Given the description of an element on the screen output the (x, y) to click on. 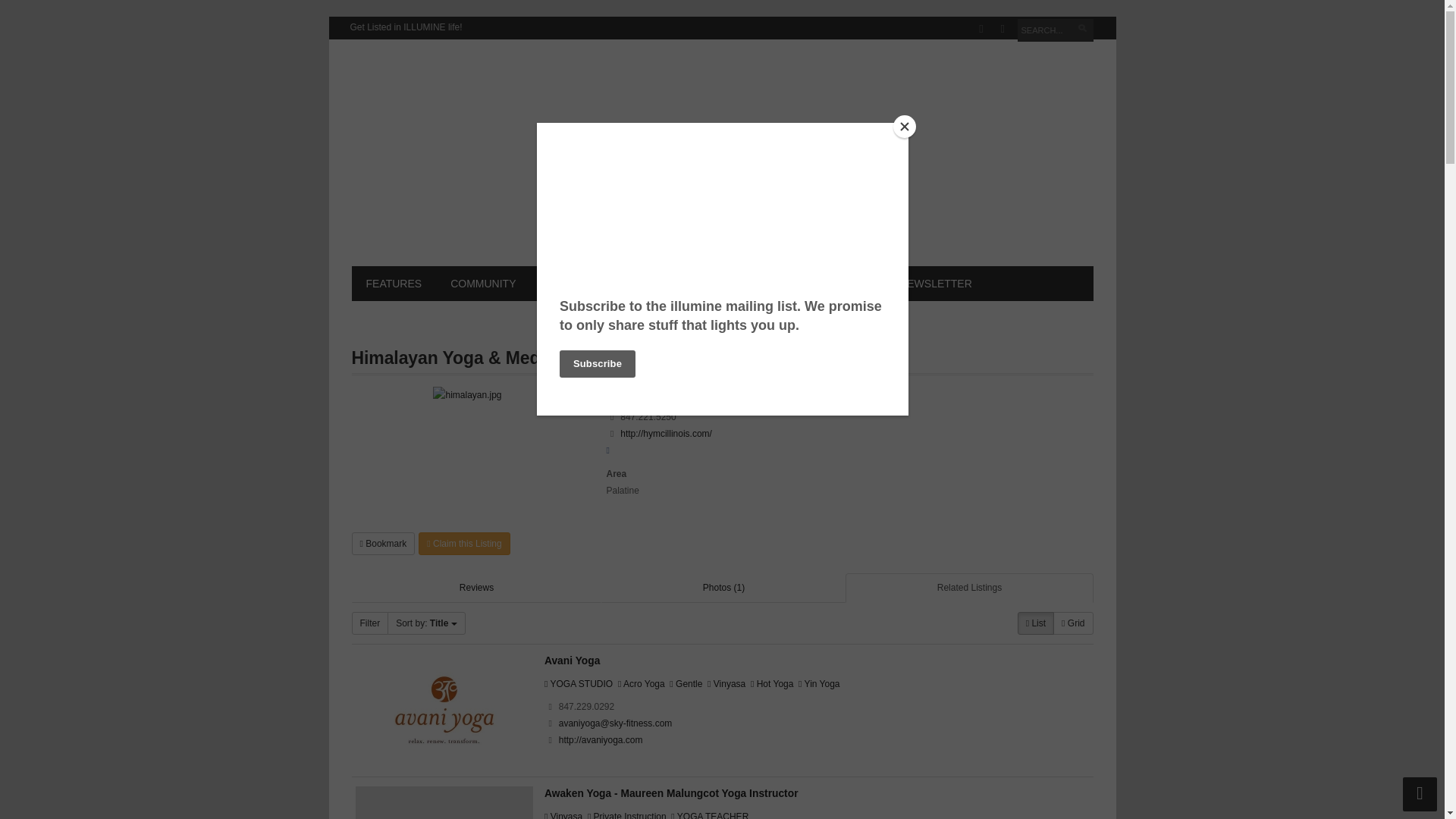
Get Listed in ILLUMINE life! (405, 27)
FEATURES (394, 283)
Twitter (1002, 29)
Search (1084, 30)
SEARCH... (1055, 29)
Facebook (981, 29)
Search (1084, 30)
Bookmark this Listing (383, 543)
Search (1084, 30)
